Given the description of an element on the screen output the (x, y) to click on. 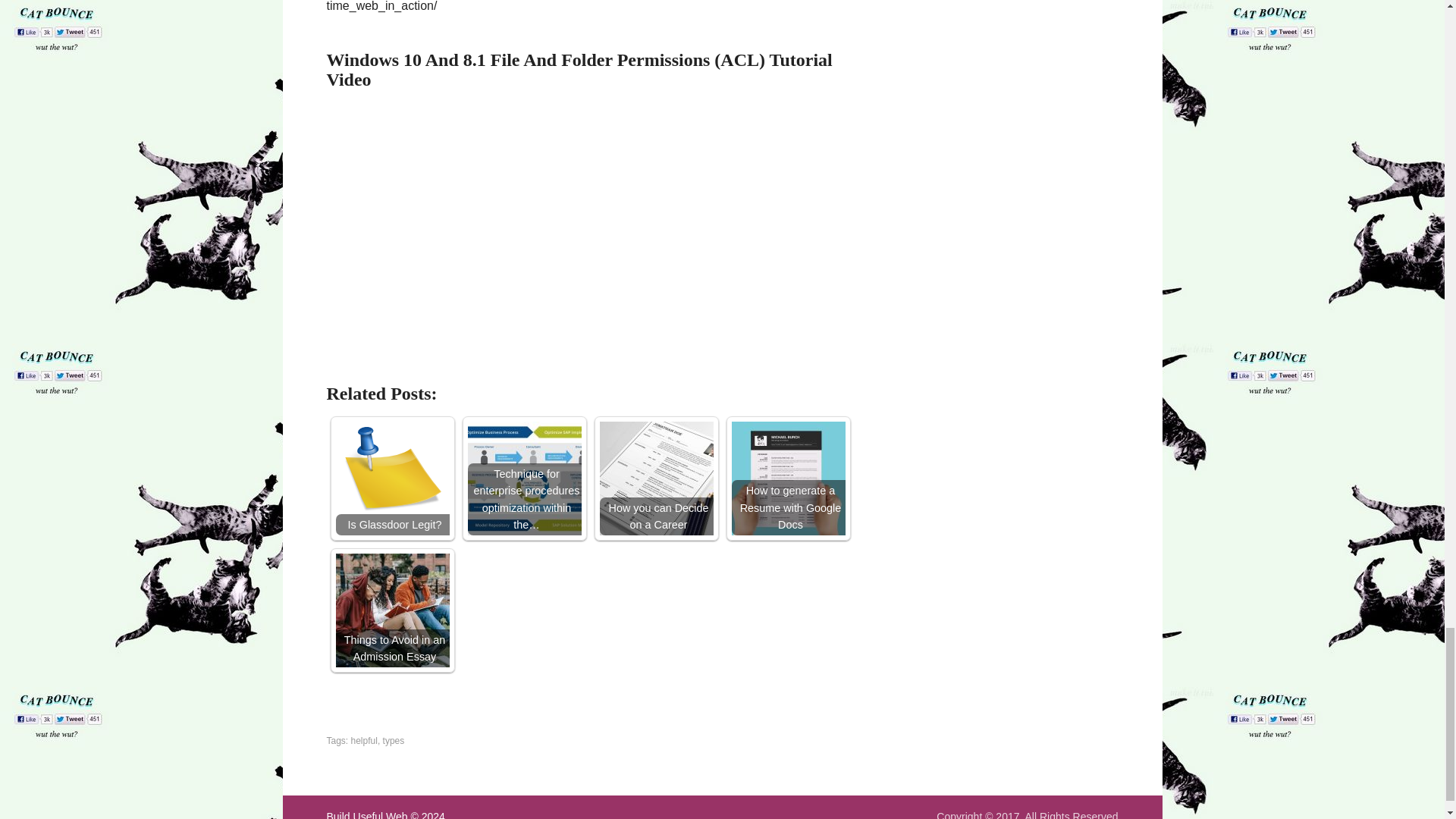
How to generate a Resume with Google Docs (787, 478)
types (393, 740)
How you can Decide on a Career (655, 478)
How to generate a Resume with Google Docs (787, 478)
How you can Decide on a Career (655, 478)
Is Glassdoor Legit? (391, 478)
Things to Avoid in an Admission Essay (391, 610)
Things to Avoid in an Admission Essay (391, 610)
helpful (363, 740)
